Given the description of an element on the screen output the (x, y) to click on. 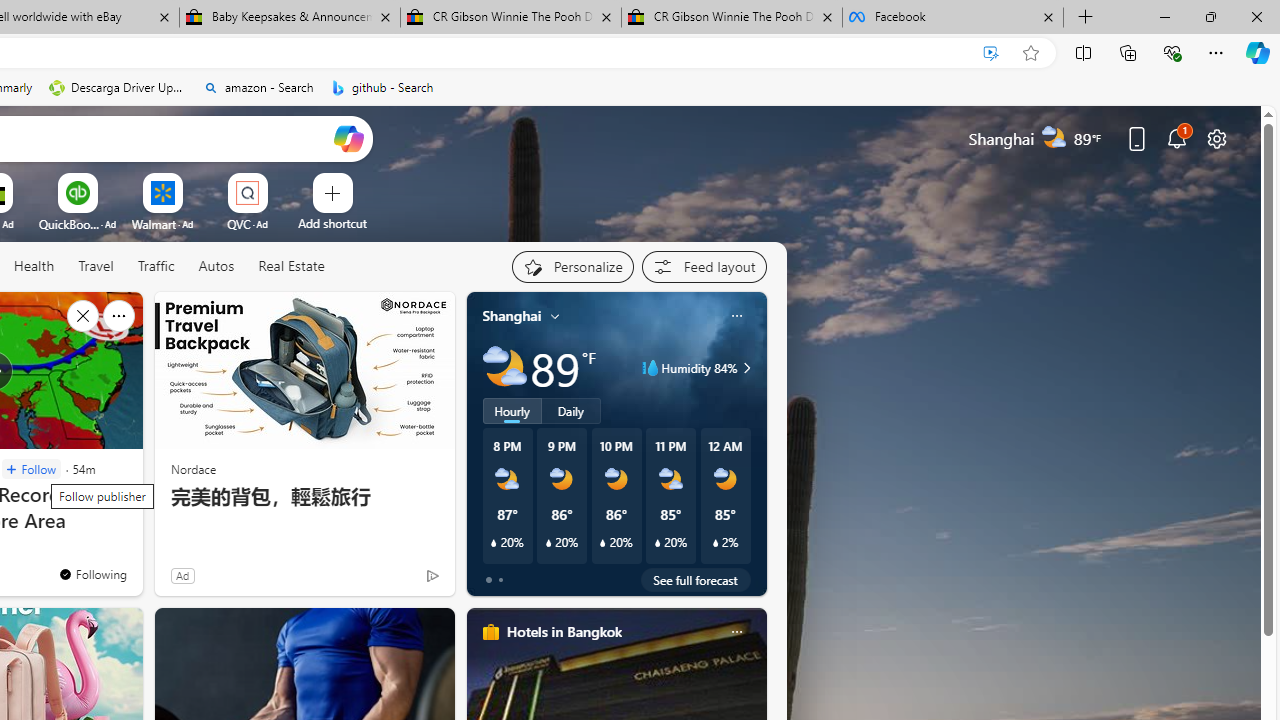
Autos (216, 267)
Real Estate (291, 265)
Travel (95, 265)
You're following The Weather Channel (92, 573)
tab-0 (488, 579)
Baby Keepsakes & Announcements for sale | eBay (290, 17)
Notifications (1176, 138)
Personalize your feed" (571, 266)
